Given the description of an element on the screen output the (x, y) to click on. 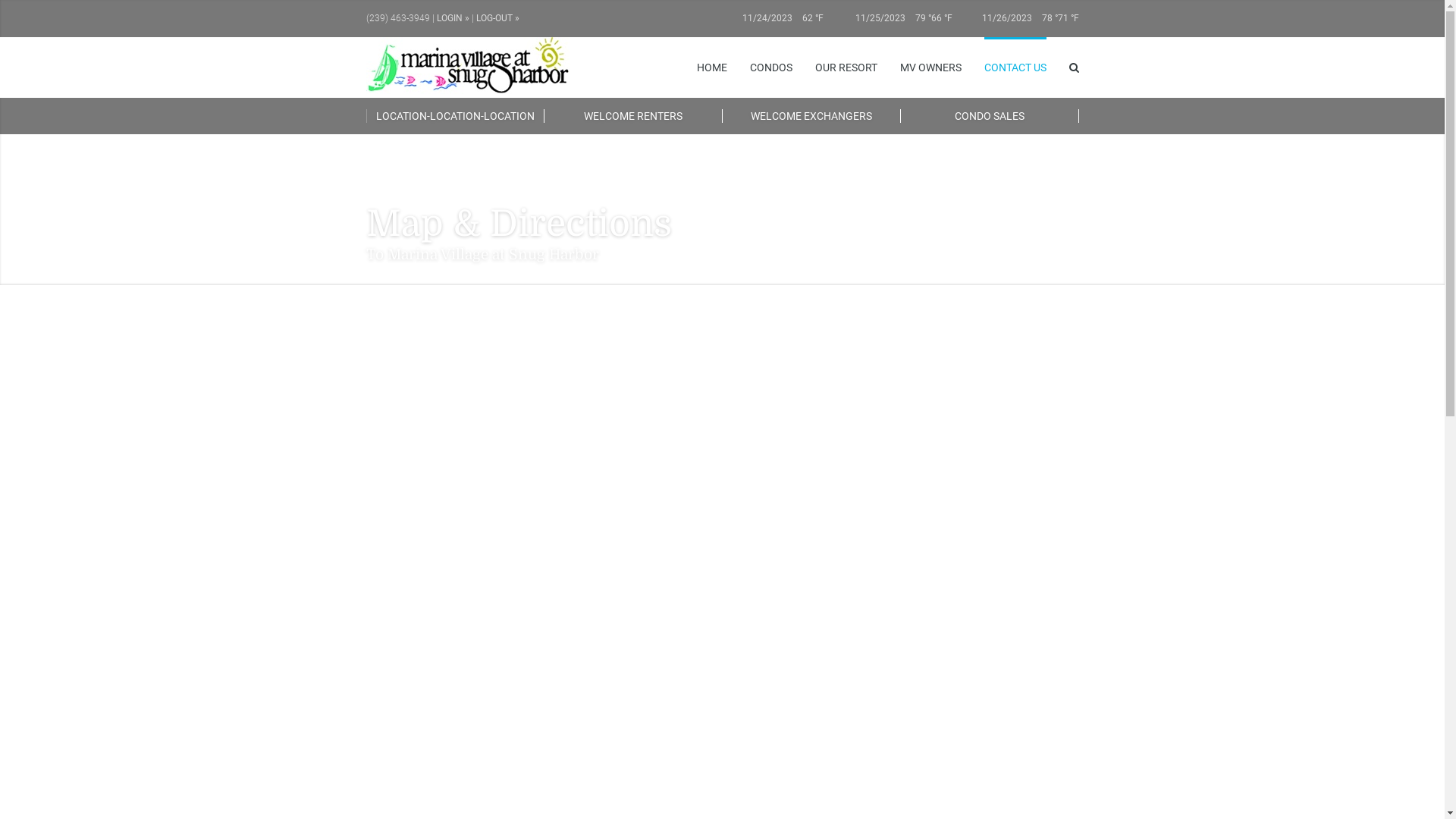
CONDOS Element type: text (770, 67)
MV OWNERS Element type: text (929, 67)
WELCOME EXCHANGERS Element type: text (810, 115)
LOCATION-LOCATION-LOCATION Element type: text (454, 115)
HOME Element type: text (711, 67)
CONDO SALES Element type: text (989, 115)
OUR RESORT Element type: text (845, 67)
WELCOME RENTERS Element type: text (633, 115)
CONTACT US Element type: text (1015, 66)
